Given the description of an element on the screen output the (x, y) to click on. 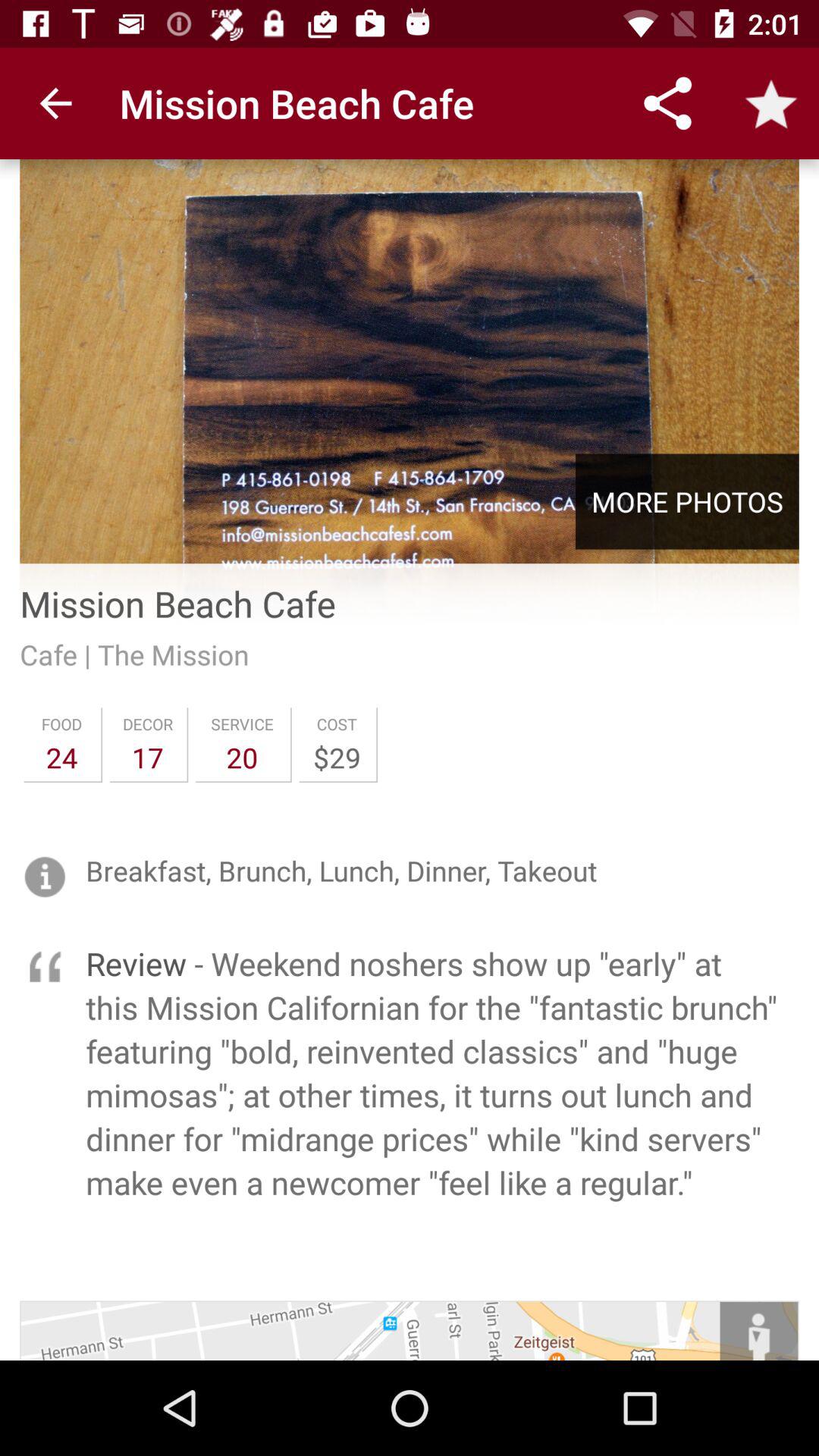
open the item next to the mission beach cafe app (55, 103)
